Given the description of an element on the screen output the (x, y) to click on. 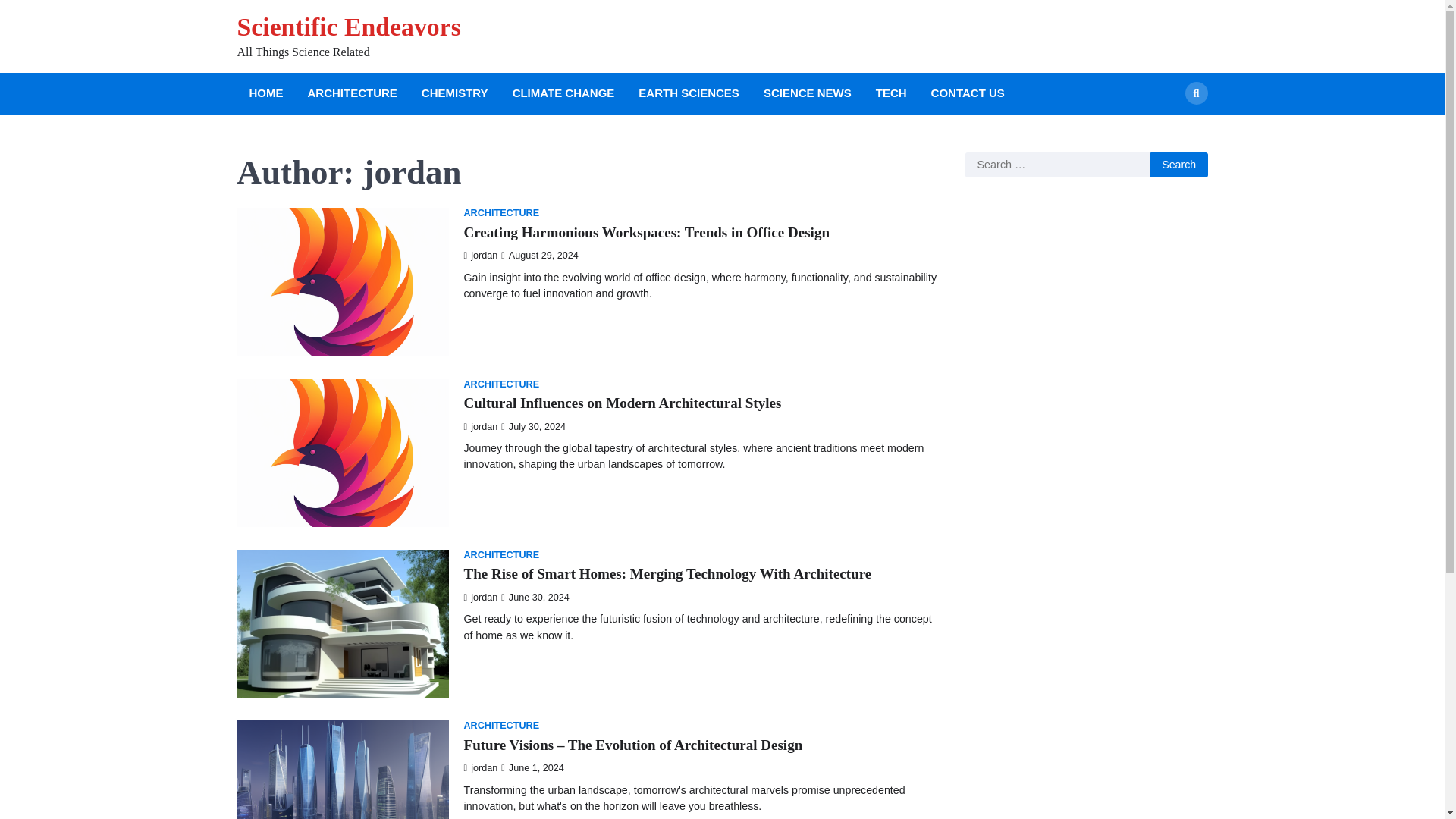
jordan (480, 426)
ARCHITECTURE (502, 555)
HOME (265, 93)
Creating Harmonious Workspaces: Trends in Office Design (646, 232)
TECH (890, 93)
Search (1179, 165)
Search (1179, 165)
EARTH SCIENCES (688, 93)
SCIENCE NEWS (807, 93)
